Given the description of an element on the screen output the (x, y) to click on. 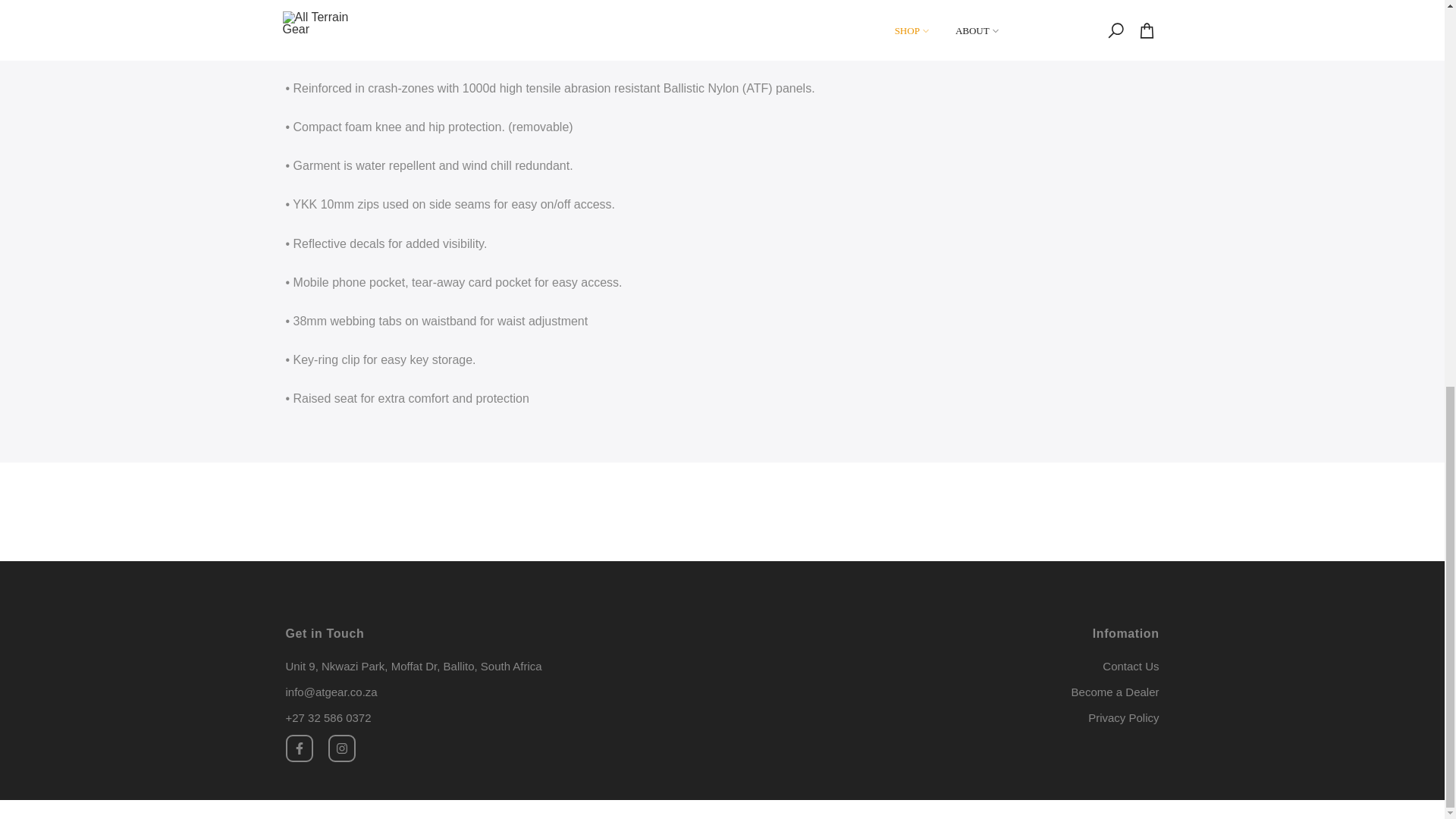
Contact Us (1130, 666)
Unit 9, Nkwazi Park, Moffat Dr, Ballito, South Africa (413, 666)
Follow on Instagram (341, 748)
Privacy Policy (1122, 717)
Become a Dealer (1114, 691)
Follow on Facebook (299, 748)
